Given the description of an element on the screen output the (x, y) to click on. 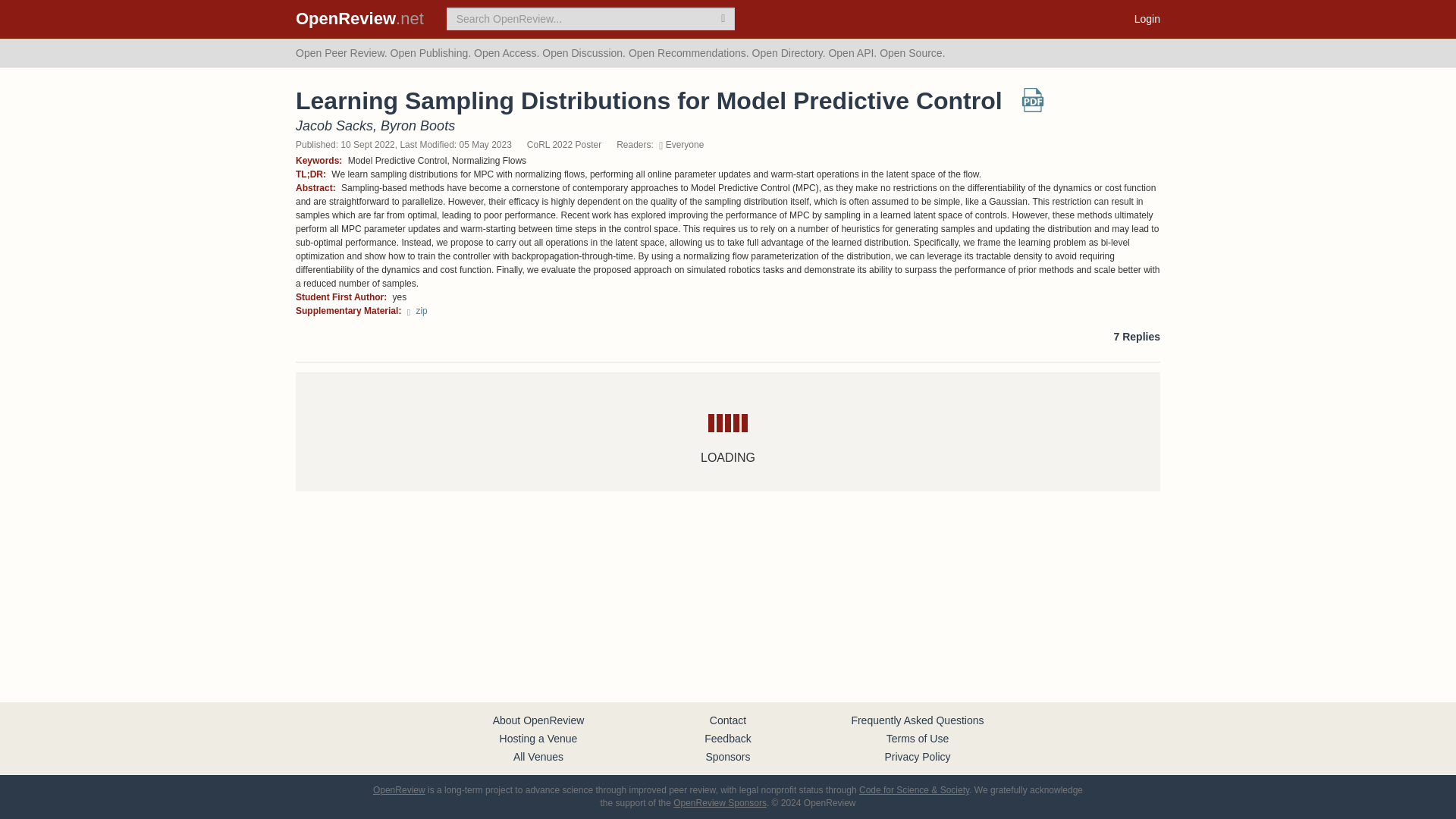
OpenReview (398, 789)
OpenReview Sponsors (719, 802)
 zip (417, 310)
Login (1147, 18)
Contact (727, 720)
All Venues (538, 756)
OpenReview.net (359, 18)
Download PDF (1032, 105)
Jacob Sacks (333, 125)
Terms of Use (917, 738)
